Given the description of an element on the screen output the (x, y) to click on. 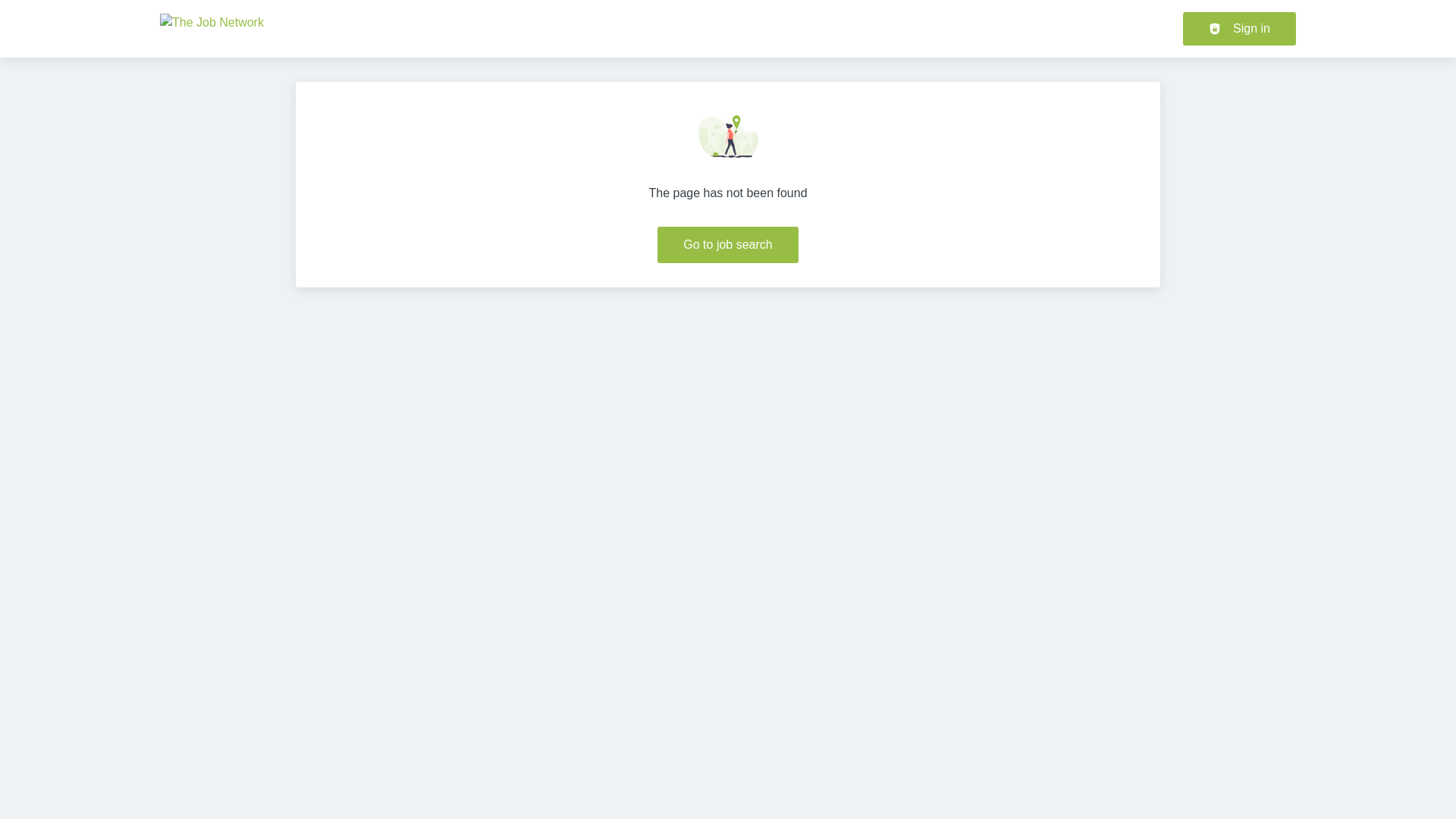
Go to job search (727, 244)
Page not found (727, 136)
Sign in (1238, 28)
